Given the description of an element on the screen output the (x, y) to click on. 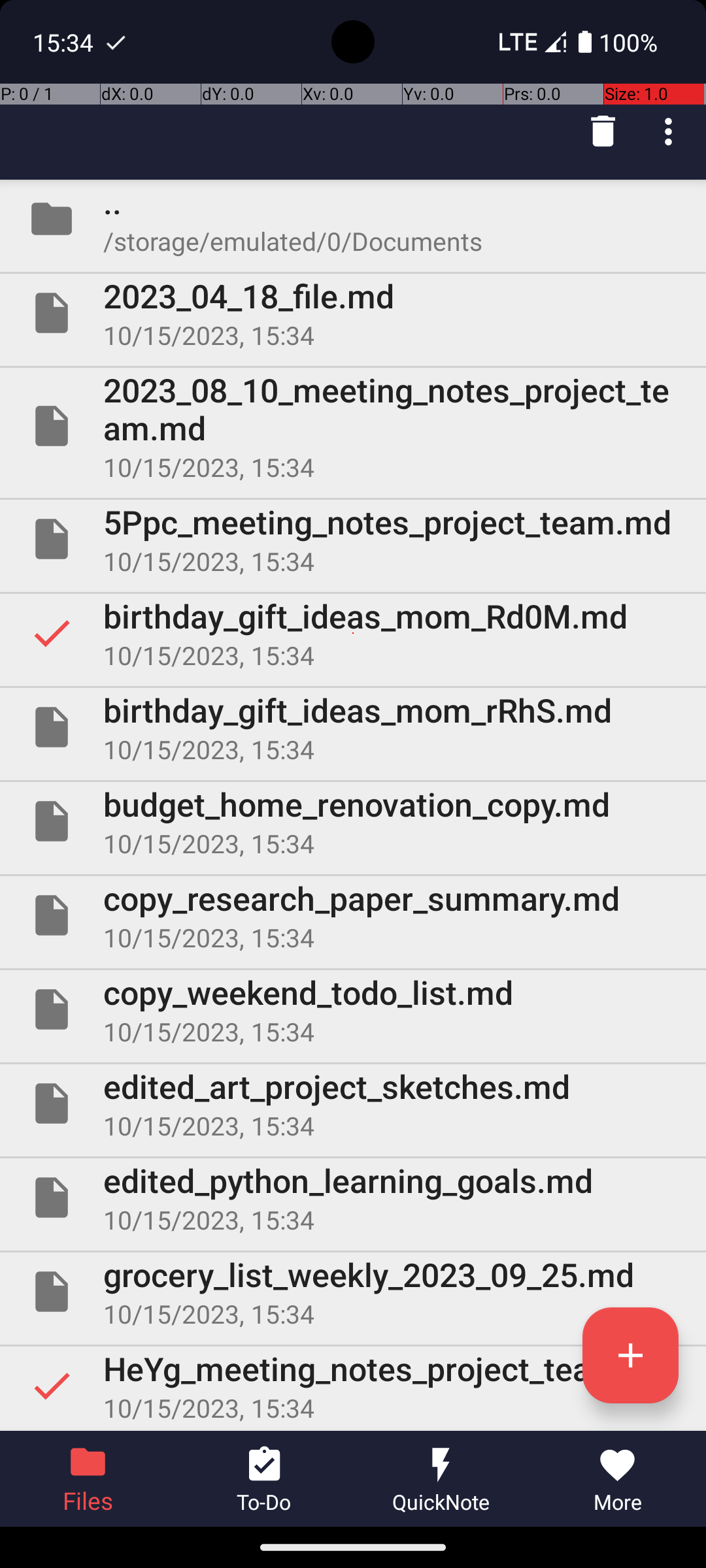
File 2023_04_18_file.md  Element type: android.widget.LinearLayout (353, 312)
File 2023_08_10_meeting_notes_project_team.md  Element type: android.widget.LinearLayout (353, 425)
File 5Ppc_meeting_notes_project_team.md  Element type: android.widget.LinearLayout (353, 538)
Selected birthday_gift_ideas_mom_Rd0M.md 10/15/2023, 15:34 Element type: android.widget.LinearLayout (353, 632)
File birthday_gift_ideas_mom_rRhS.md  Element type: android.widget.LinearLayout (353, 726)
File budget_home_renovation_copy.md  Element type: android.widget.LinearLayout (353, 821)
File copy_research_paper_summary.md  Element type: android.widget.LinearLayout (353, 915)
File copy_weekend_todo_list.md  Element type: android.widget.LinearLayout (353, 1009)
File edited_art_project_sketches.md  Element type: android.widget.LinearLayout (353, 1103)
File edited_python_learning_goals.md  Element type: android.widget.LinearLayout (353, 1197)
File grocery_list_weekly_2023_09_25.md  Element type: android.widget.LinearLayout (353, 1291)
Selected HeYg_meeting_notes_project_team.md  Element type: android.widget.LinearLayout (353, 1385)
